Given the description of an element on the screen output the (x, y) to click on. 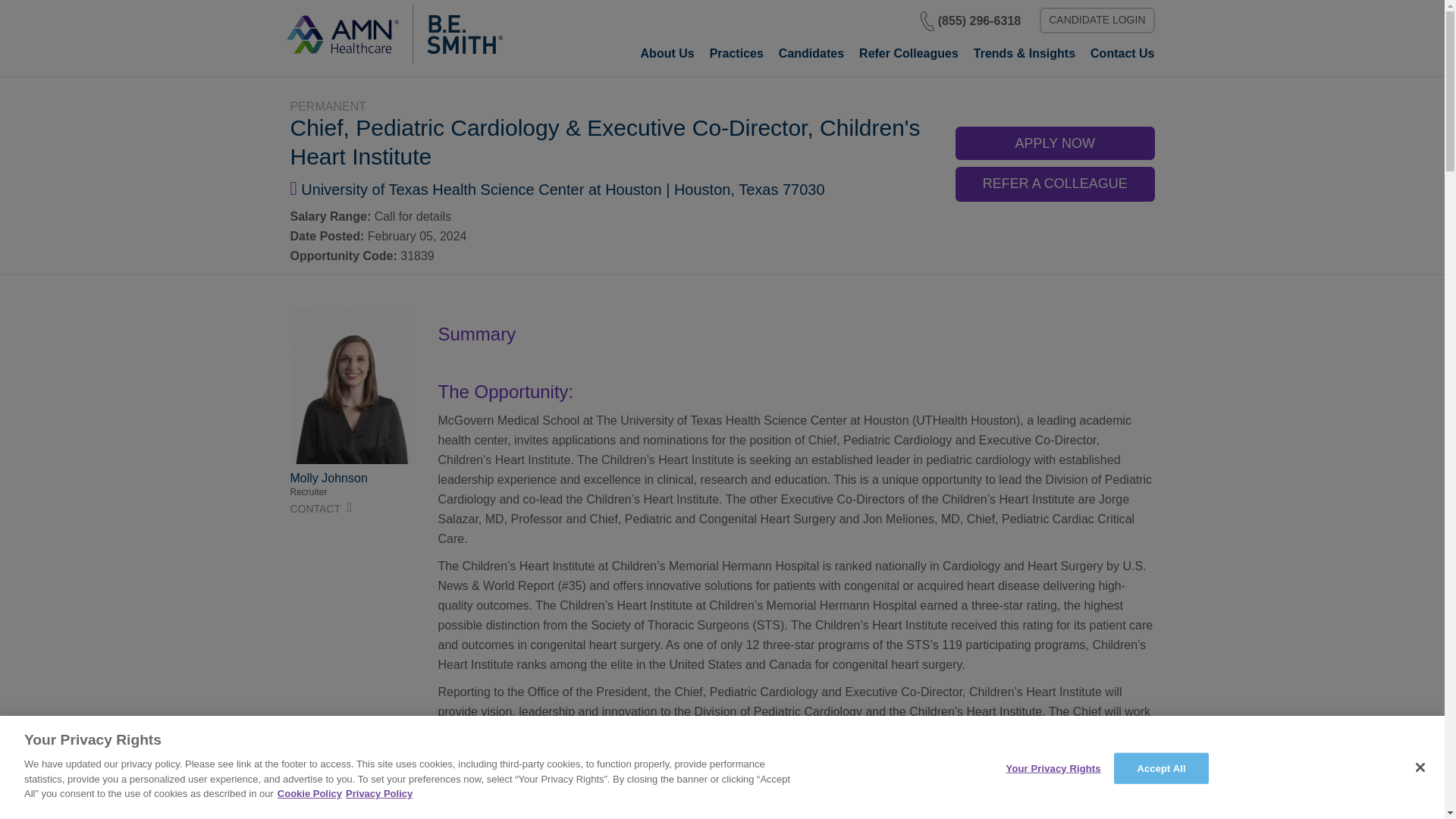
CANDIDATE LOGIN (1096, 20)
